Given the description of an element on the screen output the (x, y) to click on. 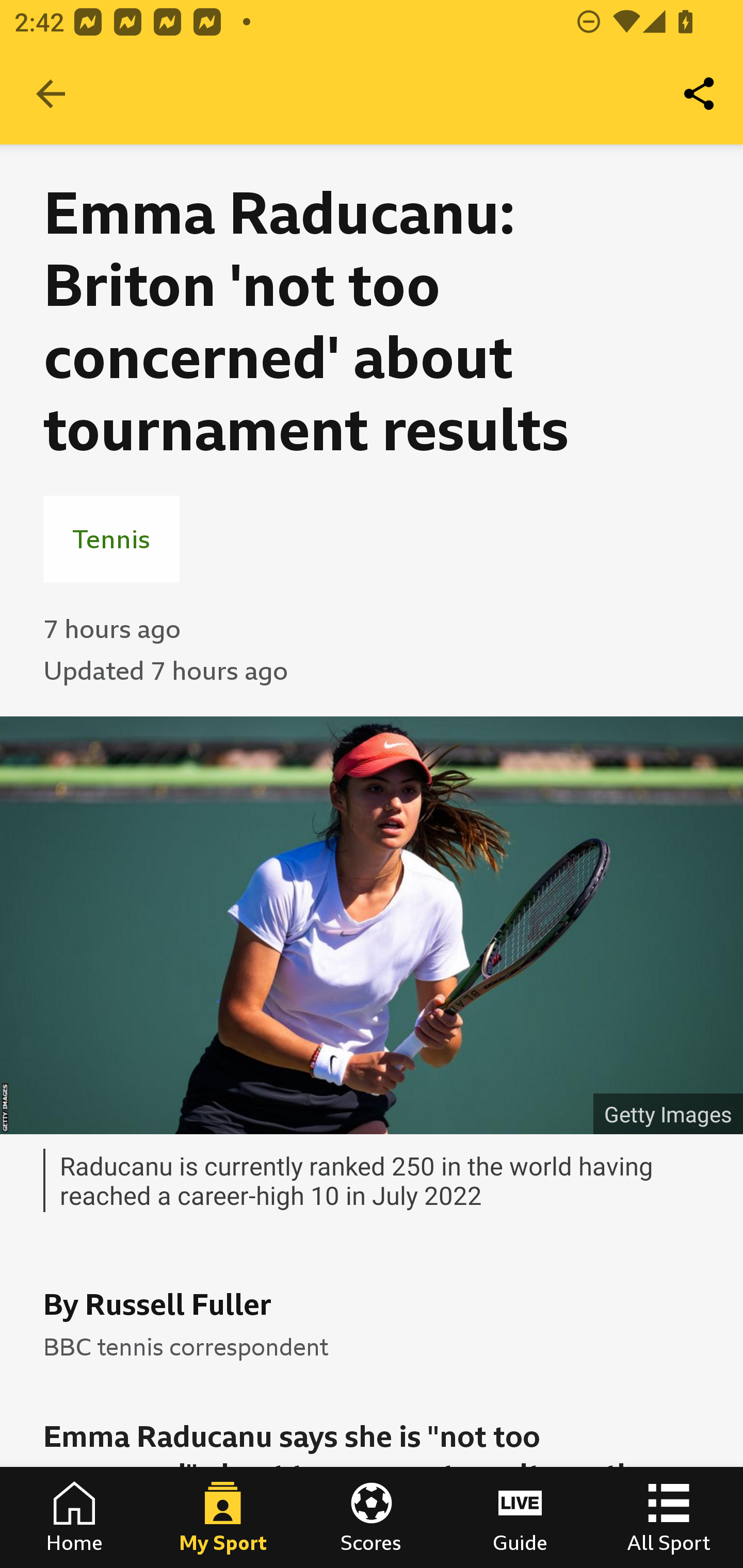
Navigate up (50, 93)
Share (699, 93)
Tennis (111, 538)
Home (74, 1517)
Scores (371, 1517)
Guide (519, 1517)
All Sport (668, 1517)
